Given the description of an element on the screen output the (x, y) to click on. 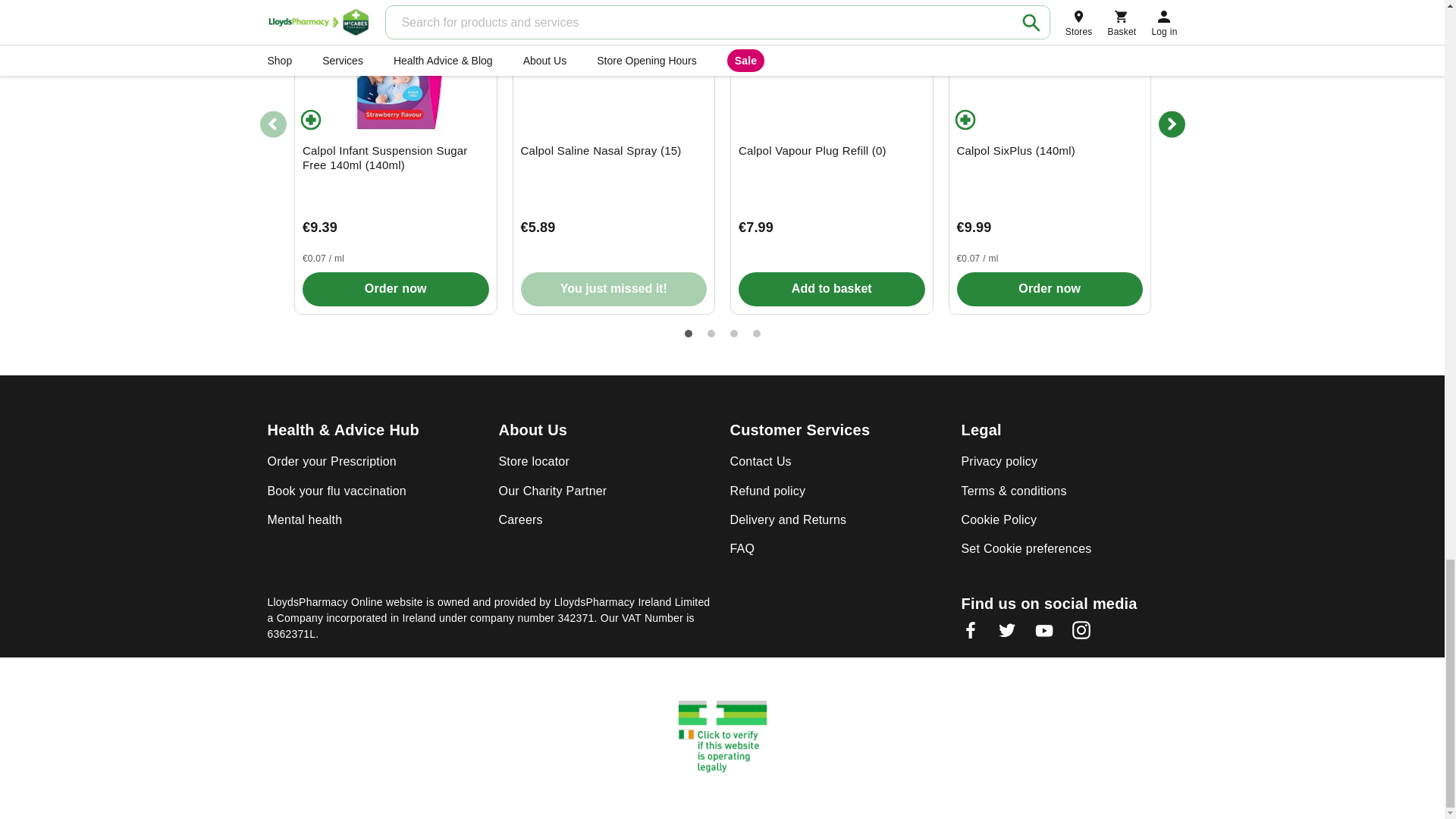
LloydsPharmacy on Instagram (1080, 634)
LloydsPharmacy on YouTube (1043, 634)
LloydsPharmacy on X (1006, 634)
LloydsPharmacy on Facebook (969, 634)
